Given the description of an element on the screen output the (x, y) to click on. 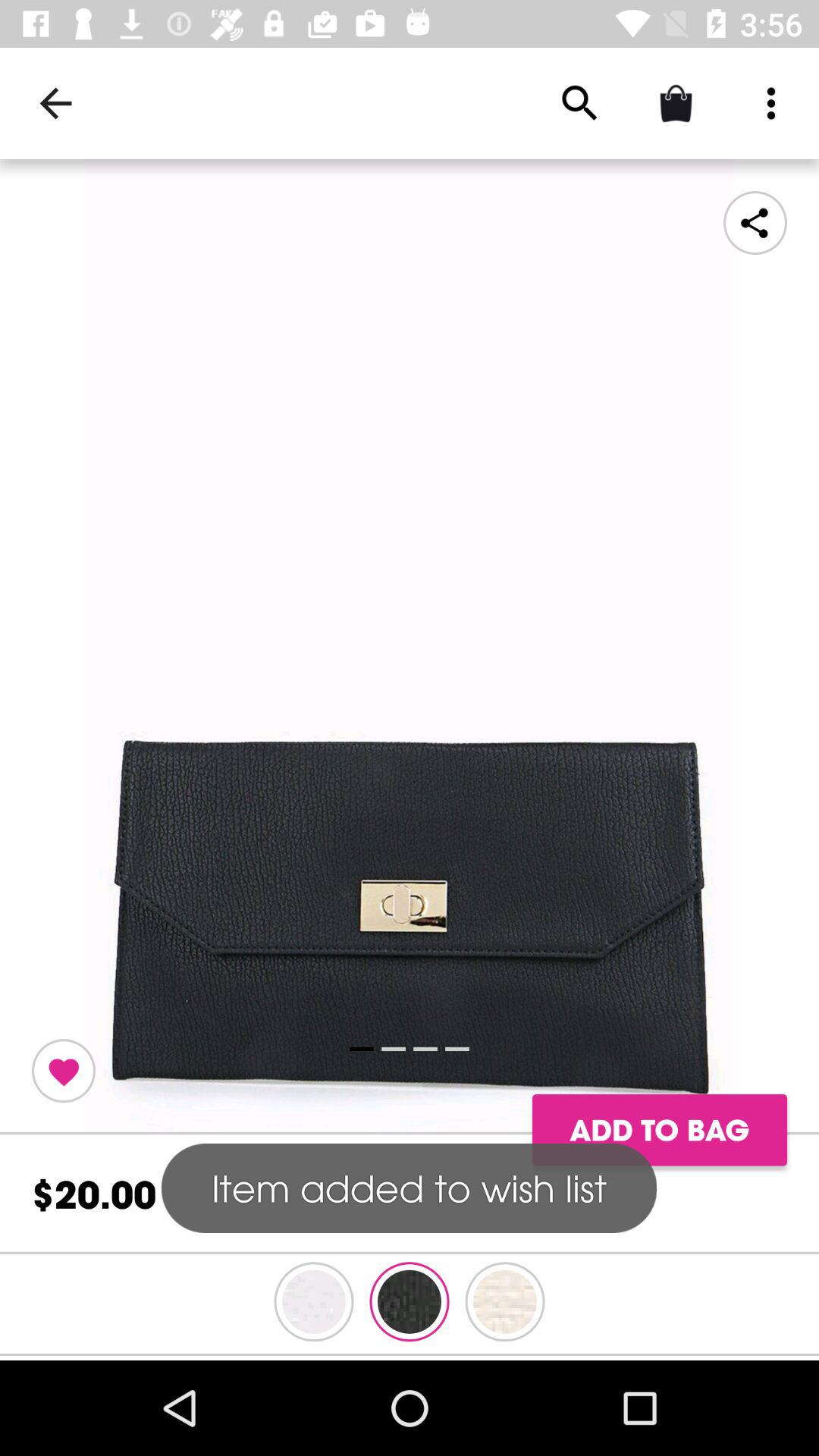
add to favorites (63, 1070)
